Given the description of an element on the screen output the (x, y) to click on. 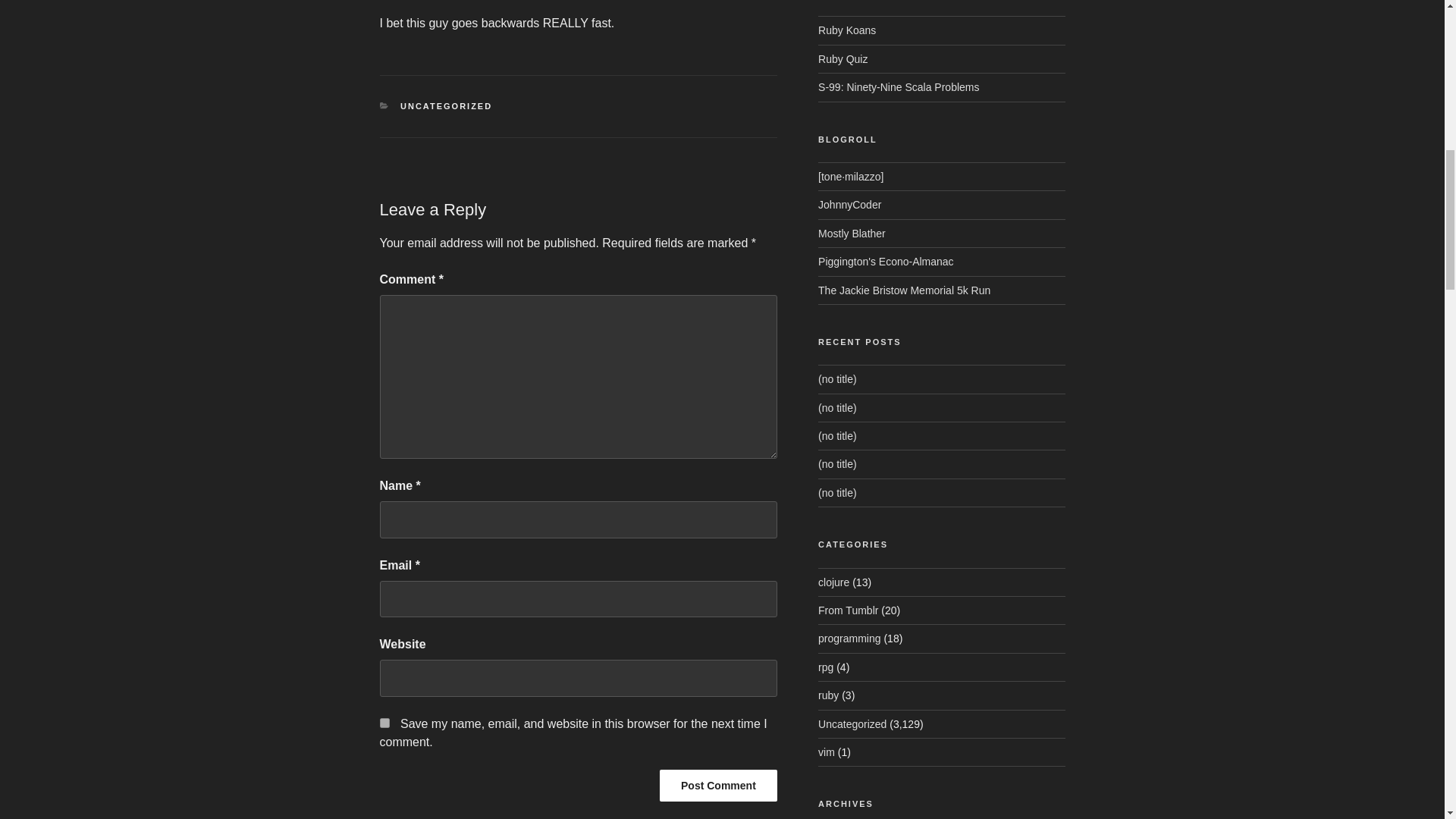
Ruby Koans (847, 30)
Mostly Blather (851, 233)
JohnnyCoder (849, 204)
San Diego Housing Bubble News and Analysis (885, 261)
Piggington's Econo-Almanac (885, 261)
S-99: Ninety-Nine Scala Problems (898, 87)
rpg (825, 666)
yes (383, 723)
